Given the description of an element on the screen output the (x, y) to click on. 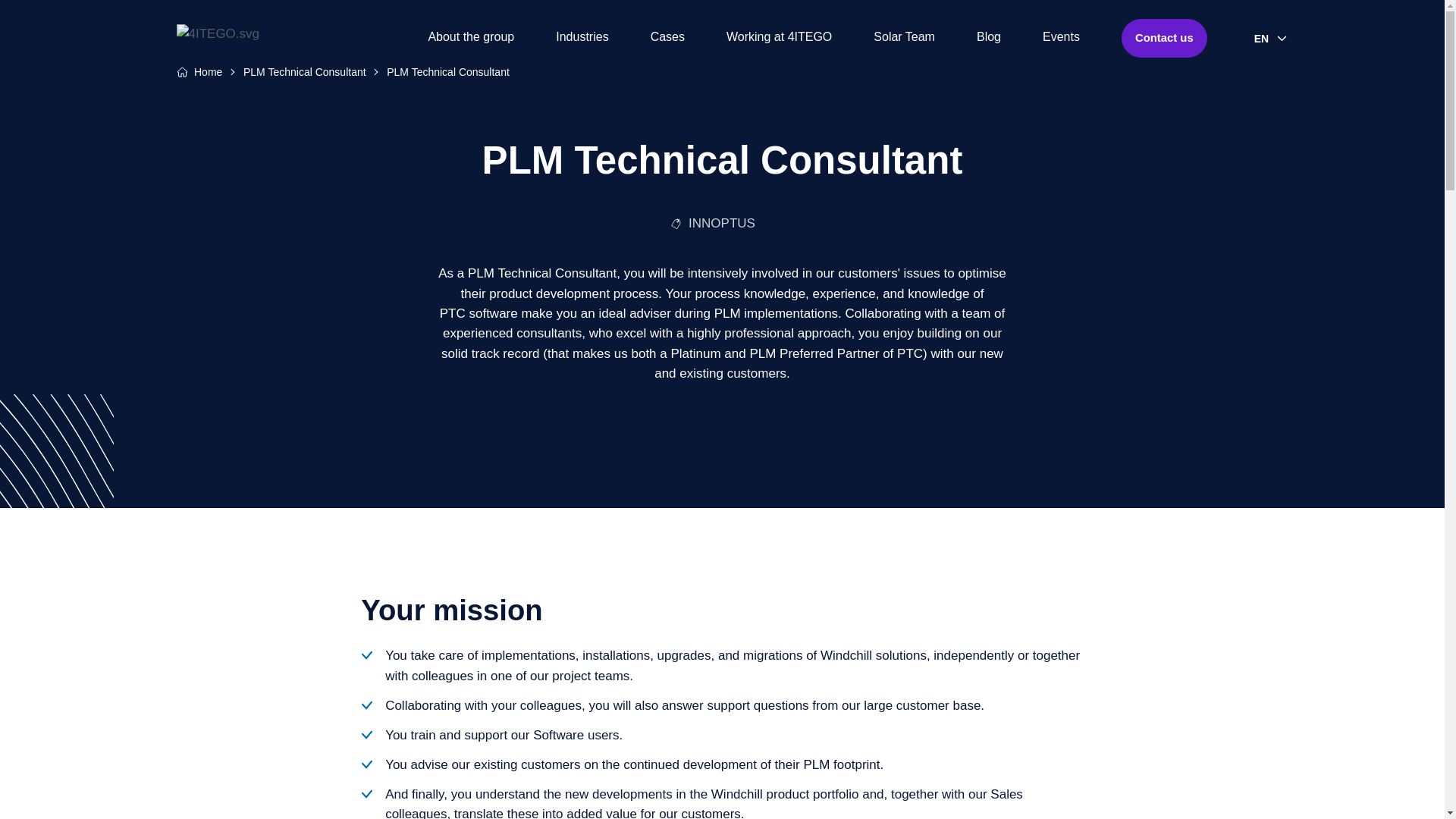
Cases (667, 38)
Industries (582, 38)
Blog (988, 38)
About the group (470, 38)
PLM Technical Consultant (304, 71)
Solar Team (903, 38)
Working at 4ITEGO (778, 38)
Home (207, 71)
Events (1061, 38)
Contact us (1164, 37)
